Given the description of an element on the screen output the (x, y) to click on. 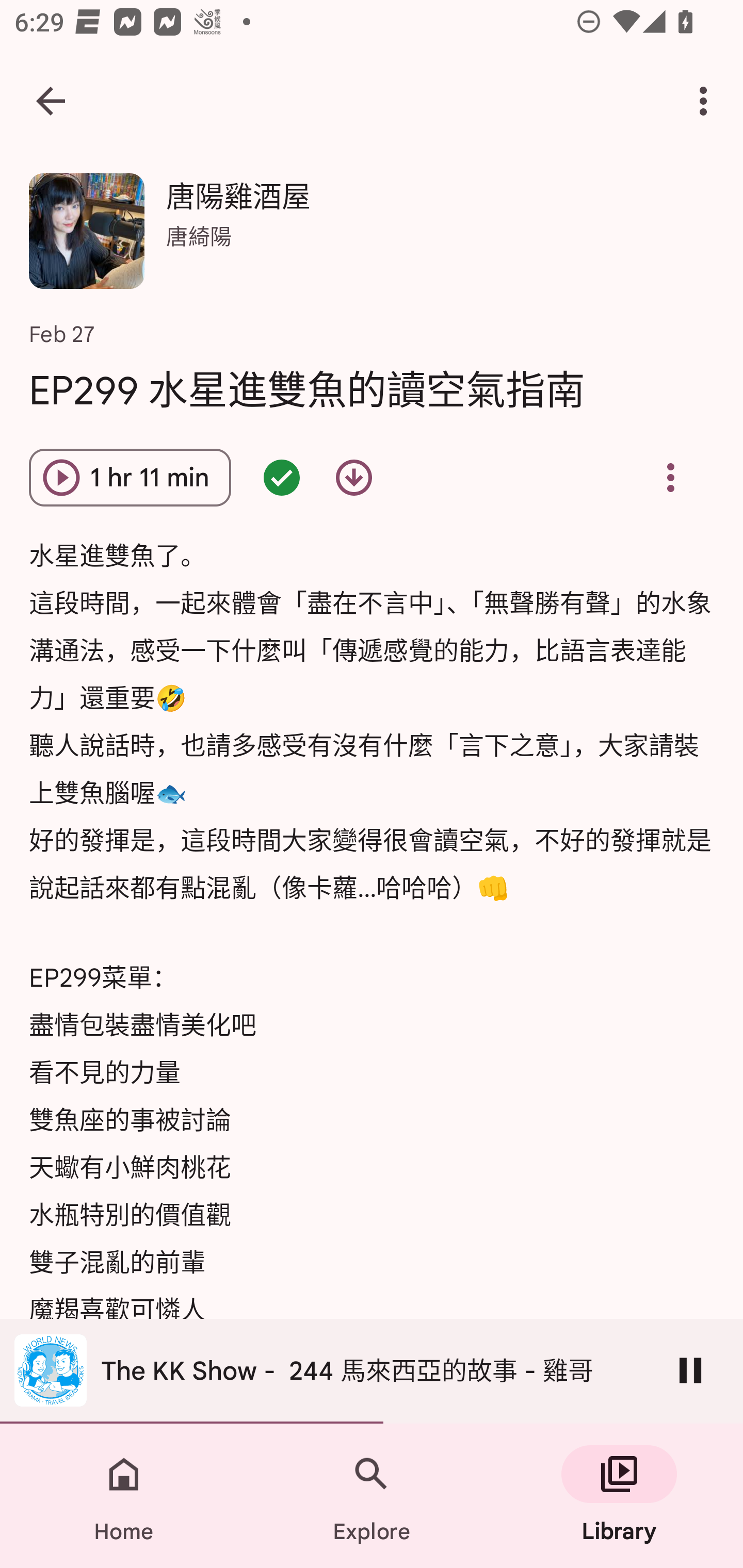
Navigate up (50, 101)
More options (706, 101)
唐陽雞酒屋 唐陽雞酒屋 唐綺陽 (371, 238)
Play episode EP299 水星進雙魚的讀空氣指南 1 hr 11 min (129, 477)
Episode queued - double tap for options (281, 477)
Download episode (354, 477)
Overflow menu (670, 477)
Pause (690, 1370)
Home (123, 1495)
Explore (371, 1495)
